Given the description of an element on the screen output the (x, y) to click on. 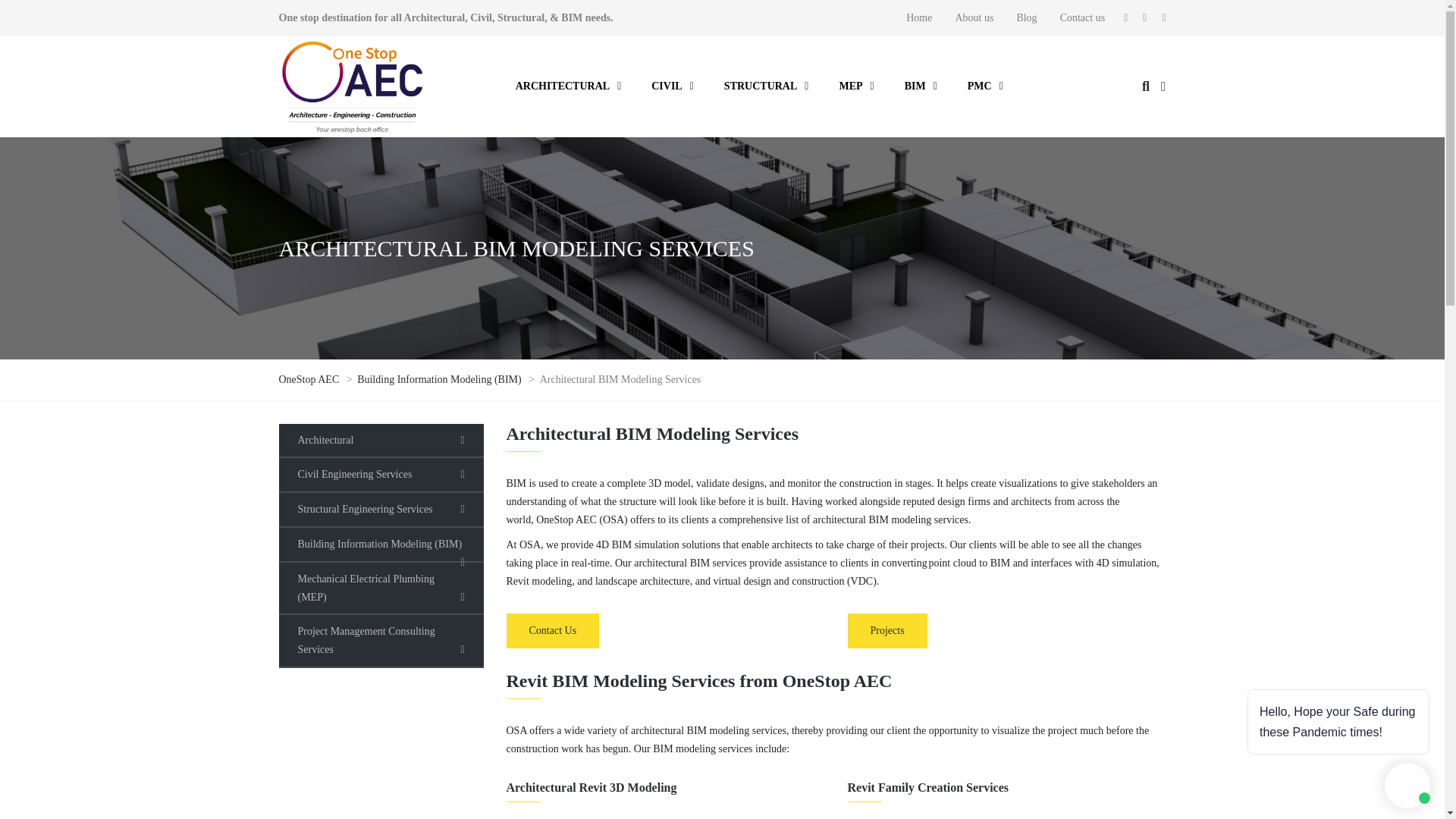
BIM (920, 86)
Blog (1026, 18)
CIVIL (672, 86)
About us (973, 18)
Go to OneStop AEC. (310, 378)
Home (919, 18)
STRUCTURAL (766, 86)
ARCHITECTURAL (568, 86)
MEP (856, 86)
Contact us (1082, 18)
